Given the description of an element on the screen output the (x, y) to click on. 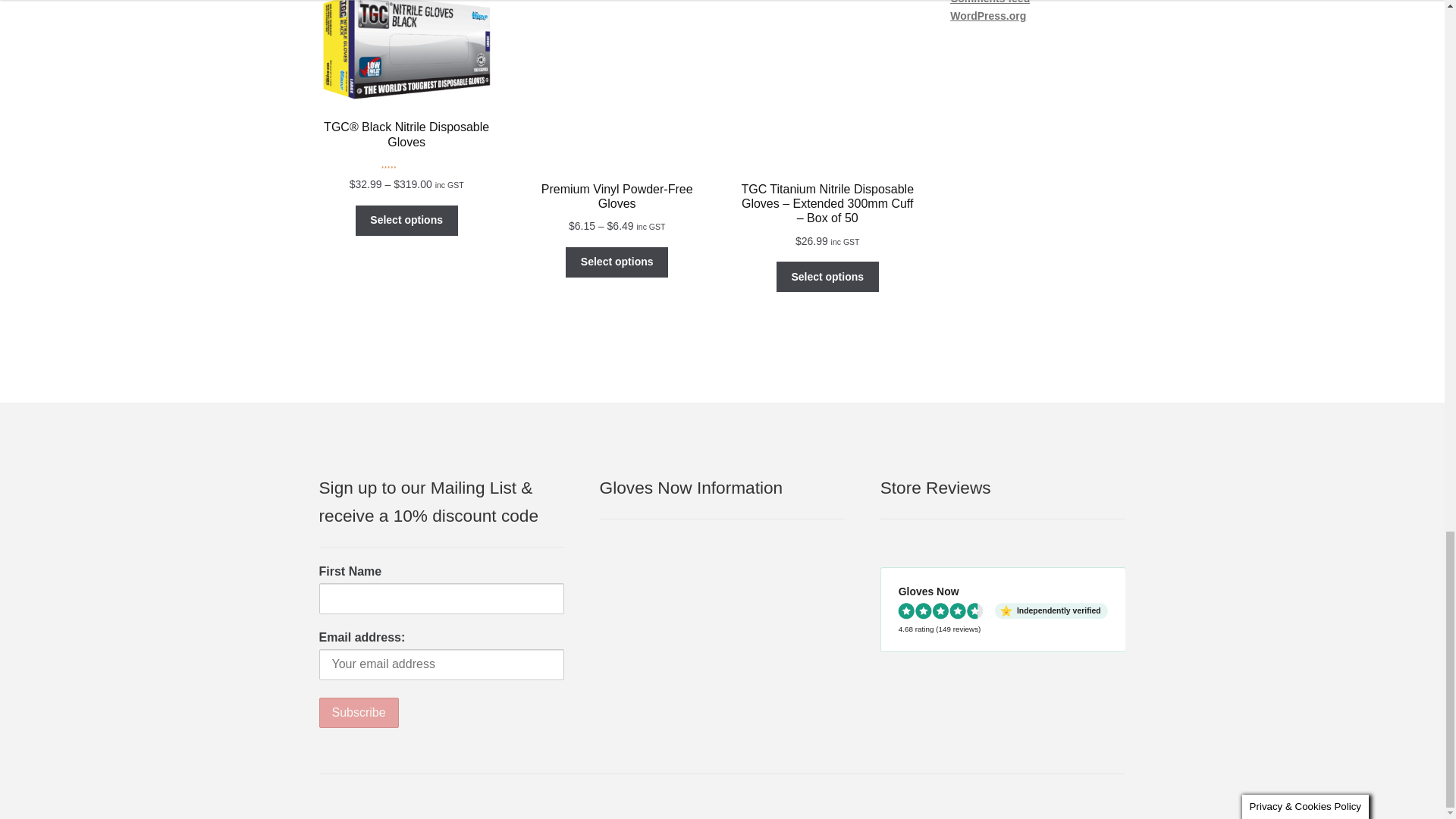
Select options (406, 220)
Subscribe (358, 712)
